Given the description of an element on the screen output the (x, y) to click on. 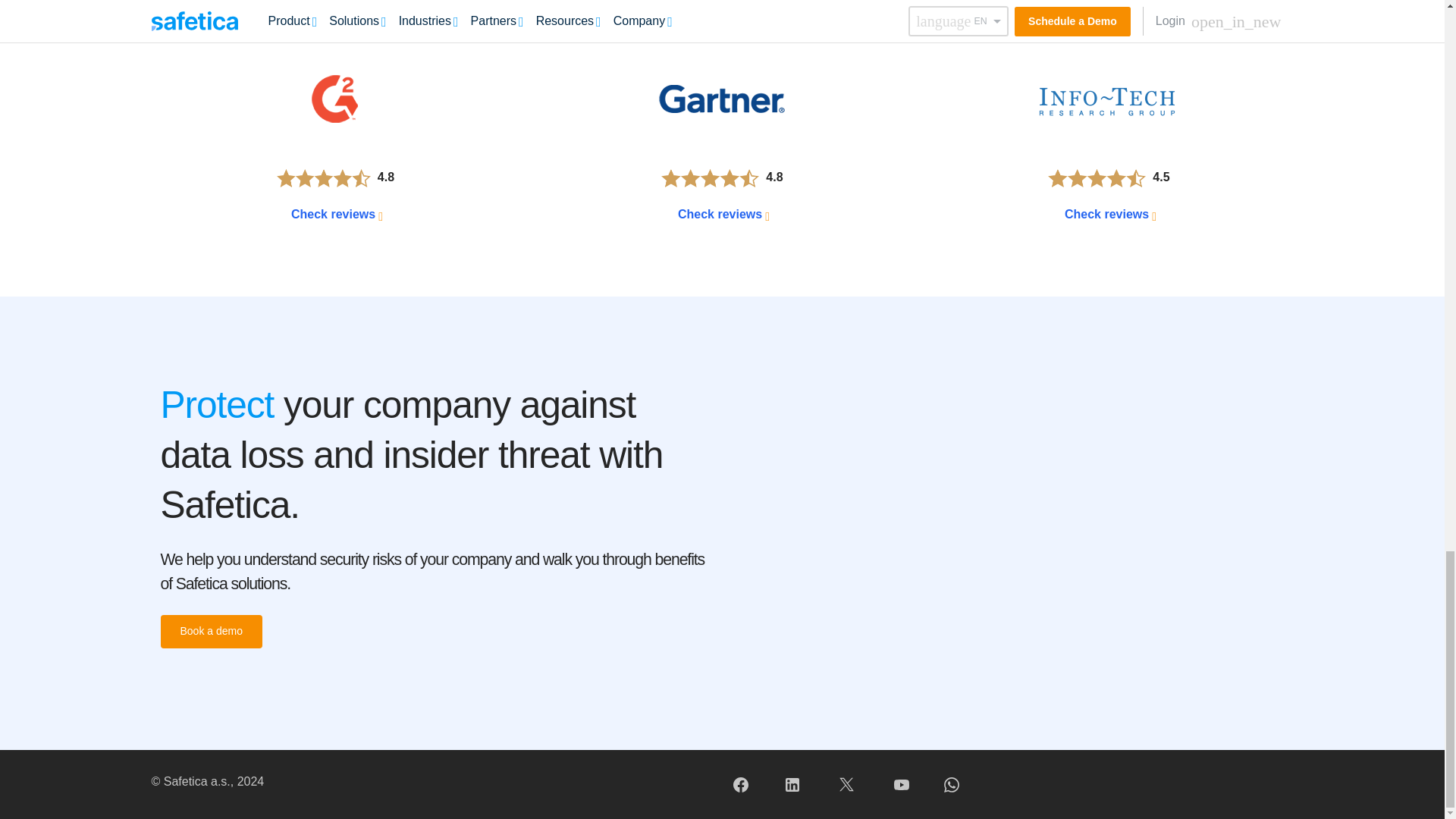
Youtube (901, 783)
Facebook (739, 783)
X (846, 784)
LinkedIn (792, 783)
